Given the description of an element on the screen output the (x, y) to click on. 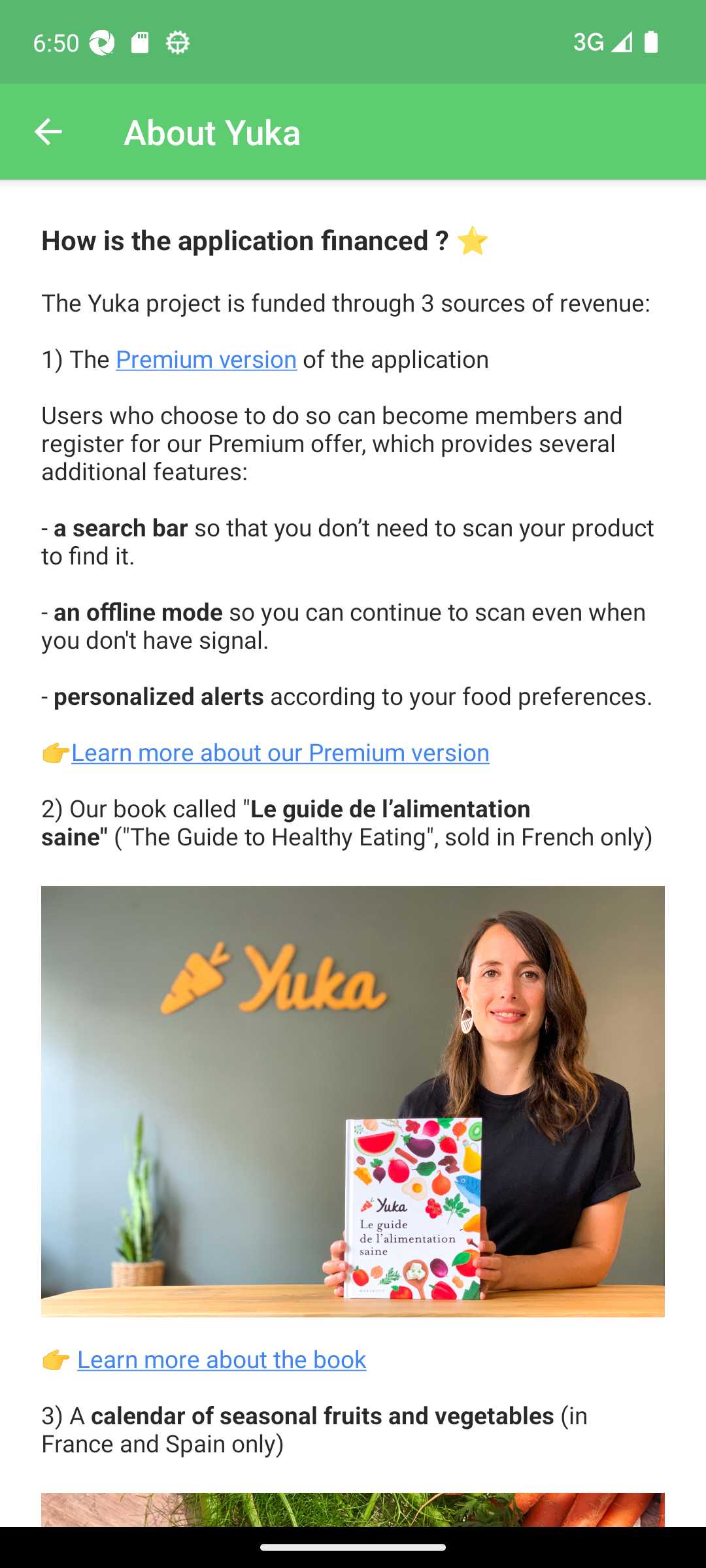
Navigate up (48, 131)
